Given the description of an element on the screen output the (x, y) to click on. 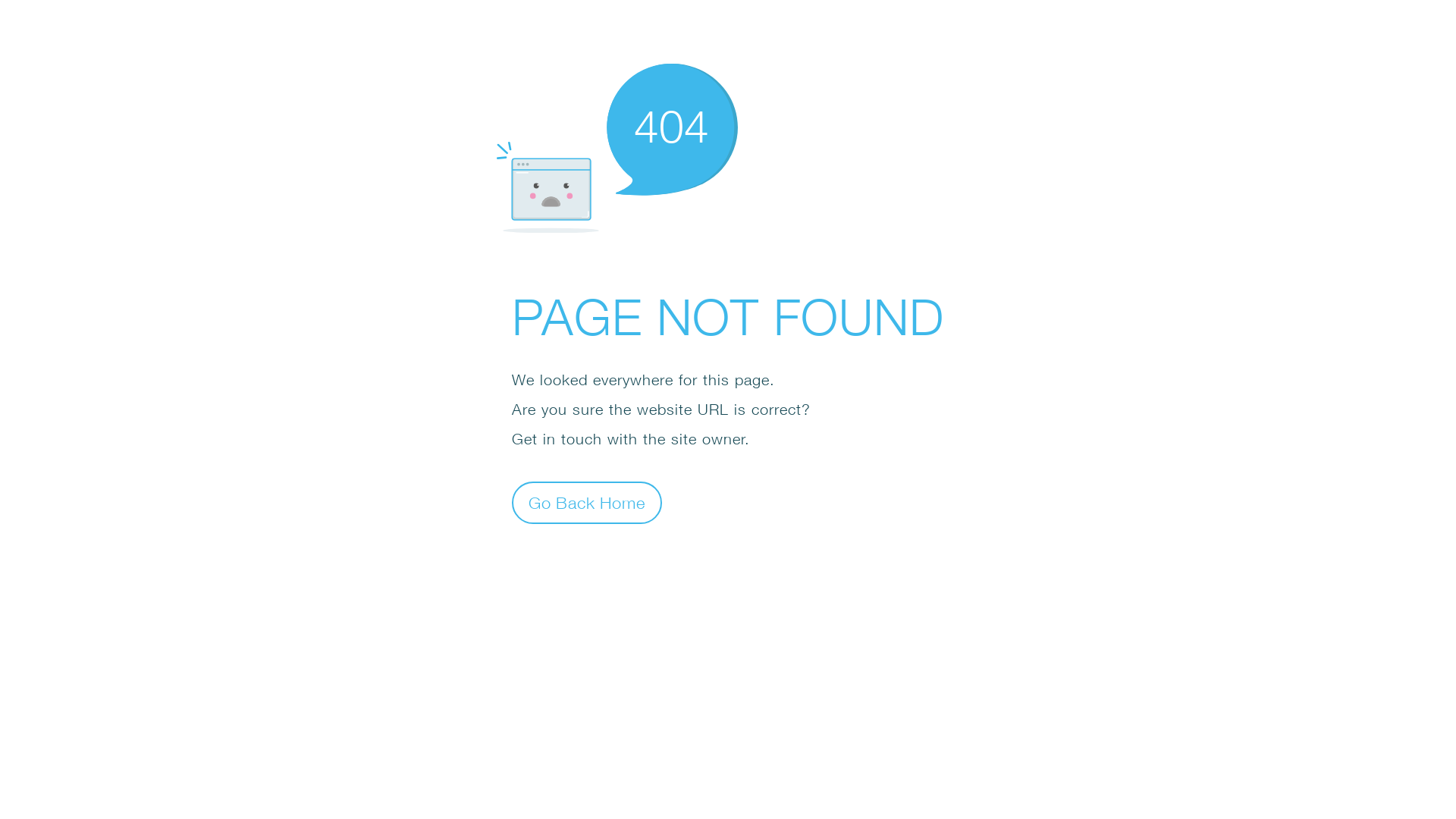
Go Back Home Element type: text (586, 502)
